Given the description of an element on the screen output the (x, y) to click on. 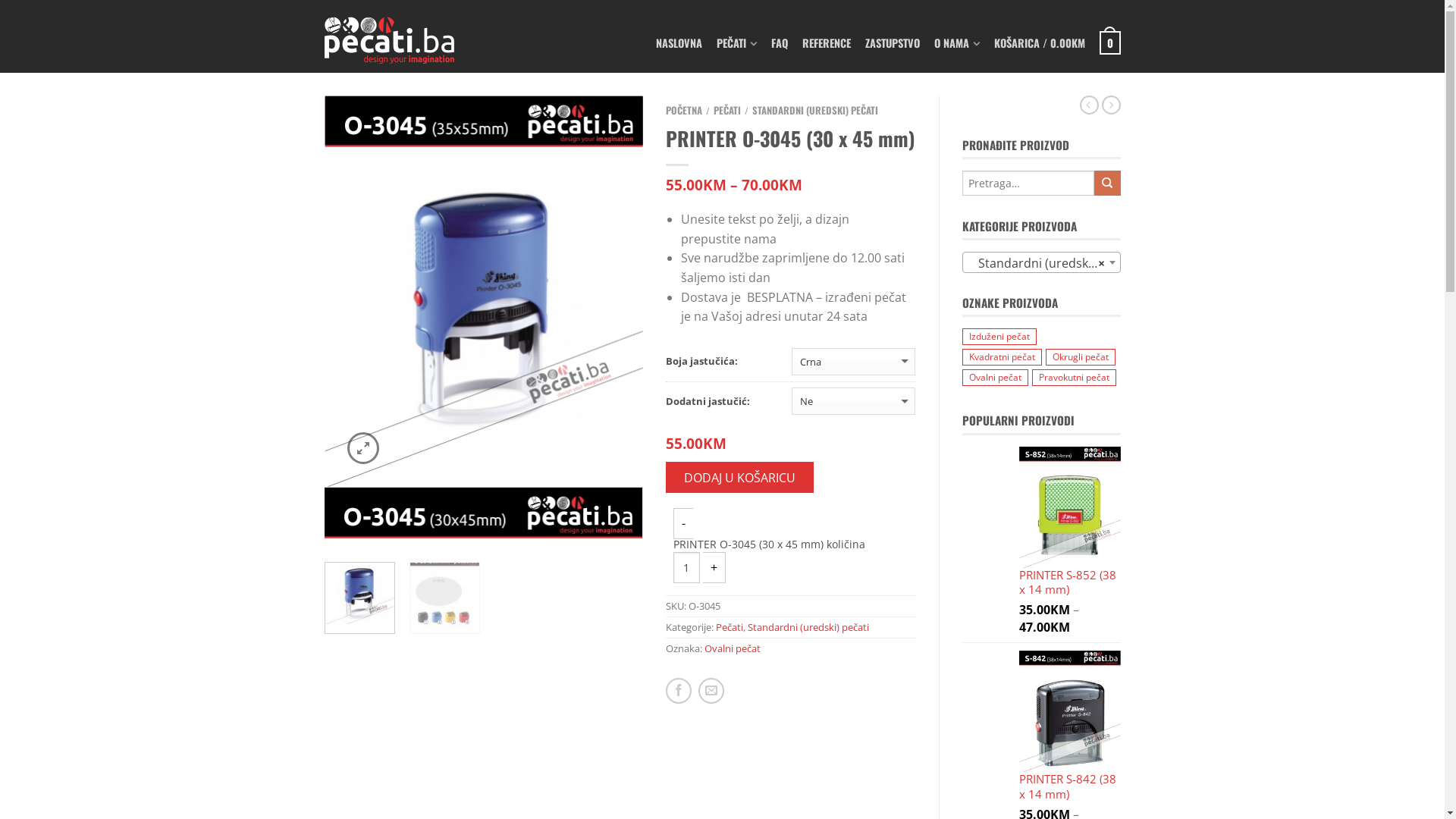
ZASTUPSTVO Element type: text (891, 42)
PRINTER S-852 (38 x 14 mm) Element type: text (1069, 523)
FAQ Element type: text (778, 42)
NASLOVNA Element type: text (678, 42)
O NAMA Element type: text (956, 42)
Pecat Shiny O-3045 30x45 mm - Izgled pecata Element type: hover (483, 290)
Zoom Element type: hover (363, 448)
PRINTER S-842 (38 x 14 mm) Element type: text (1069, 727)
Podijeli na Facebooku Element type: hover (678, 690)
REFERENCE Element type: text (826, 42)
